Given the description of an element on the screen output the (x, y) to click on. 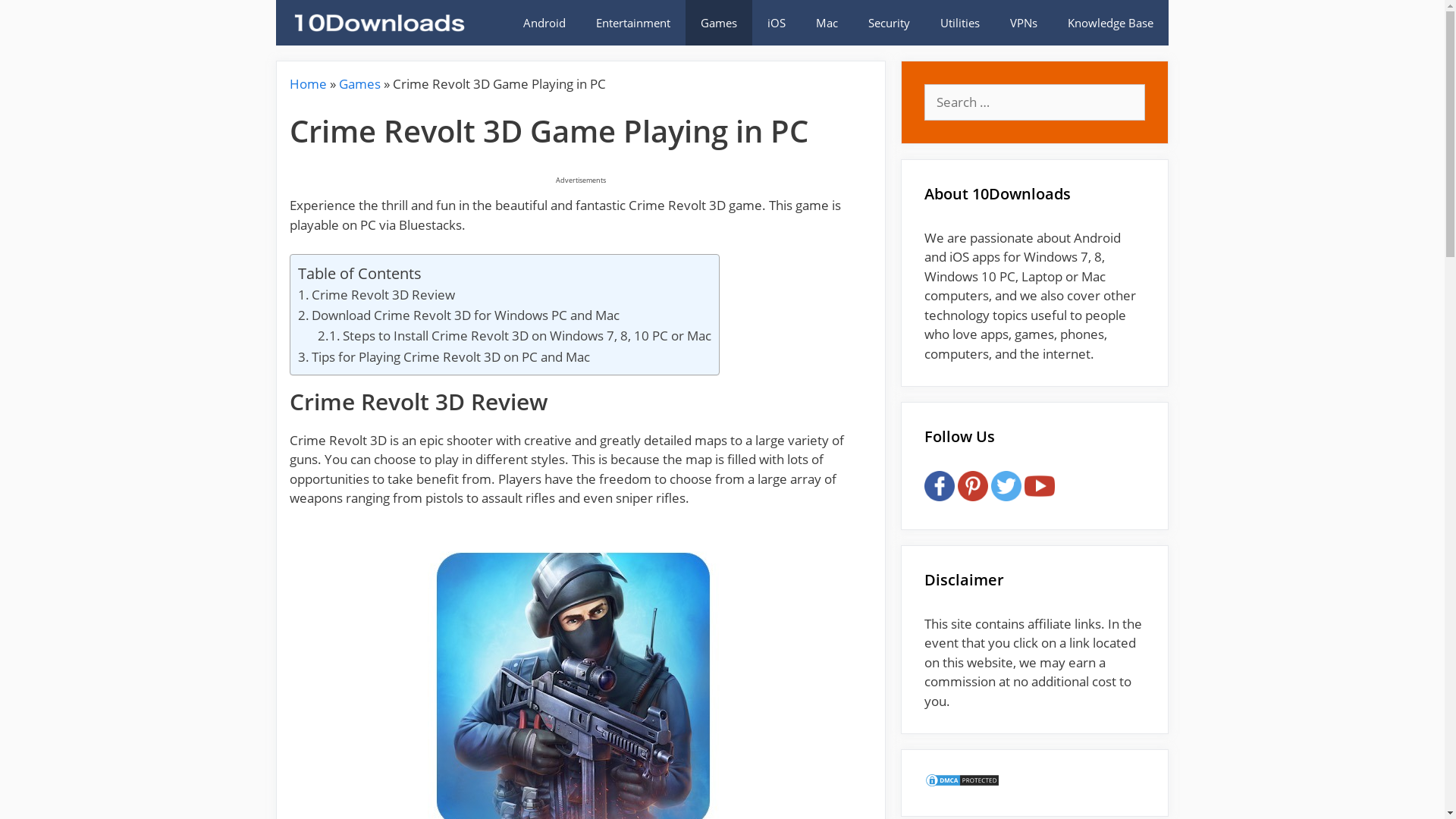
Tips for Playing Crime Revolt 3D on PC and Mac Element type: text (443, 356)
Games Element type: text (718, 22)
Search for: Element type: hover (1034, 102)
Security Element type: text (889, 22)
10Downloads Element type: hover (378, 22)
Download Crime Revolt 3D for Windows PC and Mac Element type: text (458, 314)
Entertainment Element type: text (632, 22)
Home Element type: text (307, 83)
Crime Revolt 3D Review Element type: text (376, 294)
Search Element type: text (33, 17)
Android Element type: text (544, 22)
iOS Element type: text (776, 22)
Mac Element type: text (826, 22)
Knowledge Base Element type: text (1110, 22)
Utilities Element type: text (959, 22)
VPNs Element type: text (1023, 22)
Games Element type: text (359, 83)
DMCA.com Protection Status Element type: hover (962, 782)
